Given the description of an element on the screen output the (x, y) to click on. 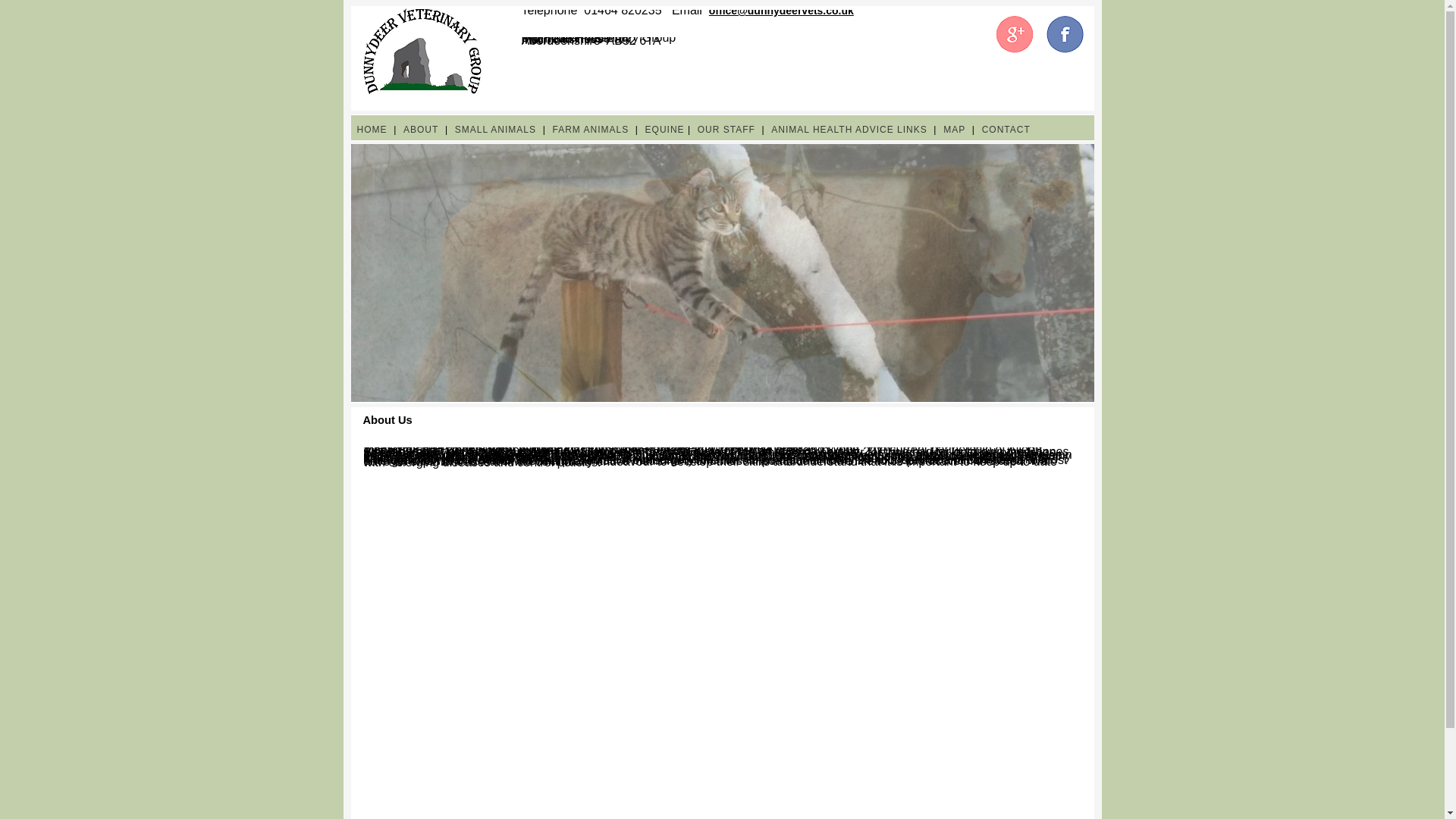
CONTACT (1005, 129)
MAP (954, 129)
EQUINE (664, 129)
ANIMAL HEALTH ADVICE LINKS (848, 129)
HOME (371, 129)
FARM ANIMALS (589, 129)
ABOUT (420, 129)
SMALL ANIMALS (494, 129)
OUR STAFF (726, 129)
